Given the description of an element on the screen output the (x, y) to click on. 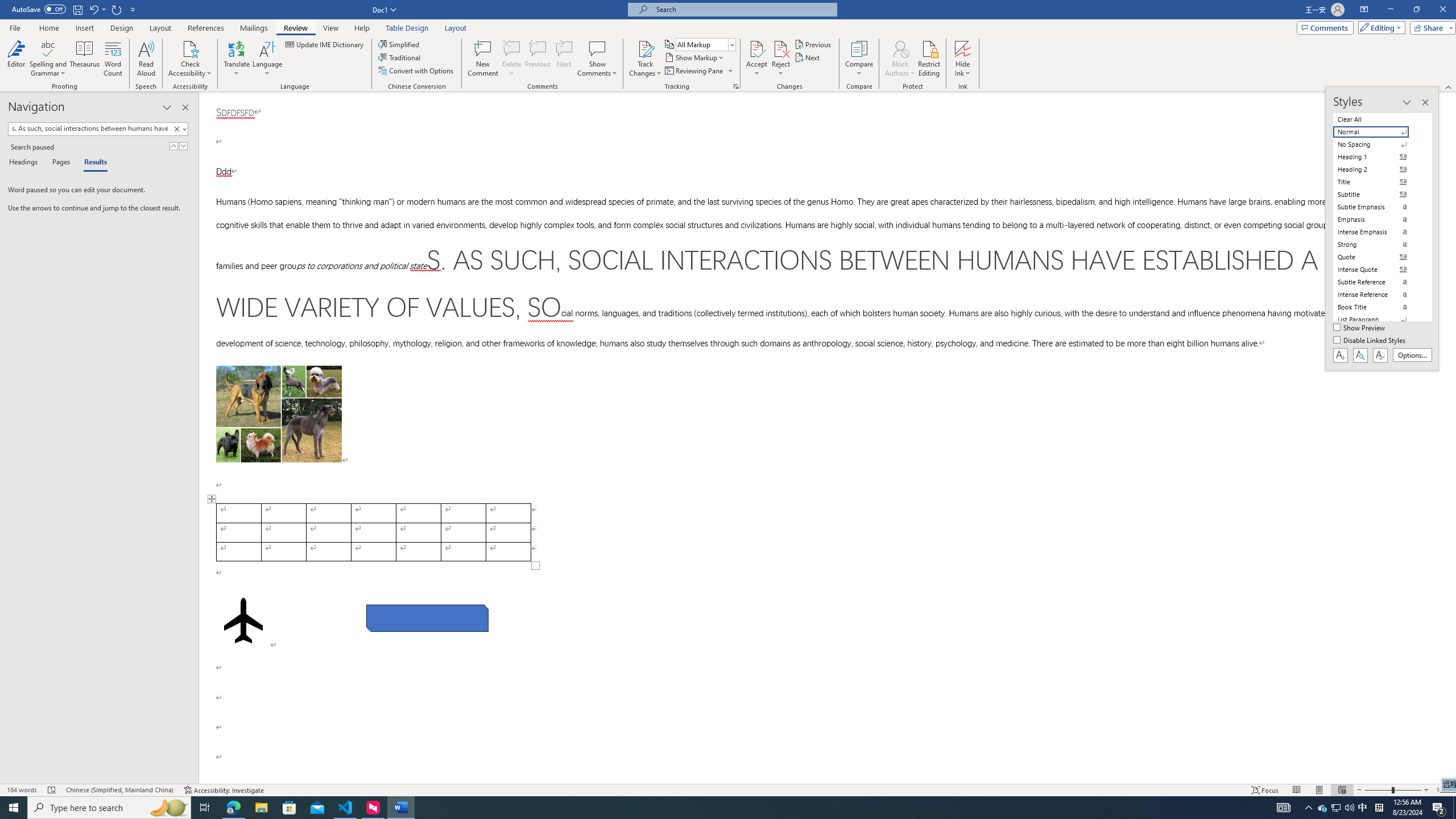
Thesaurus... (84, 58)
Accept (756, 58)
Show Comments (597, 48)
Next Result (183, 145)
Simplified (400, 44)
Traditional (400, 56)
